Given the description of an element on the screen output the (x, y) to click on. 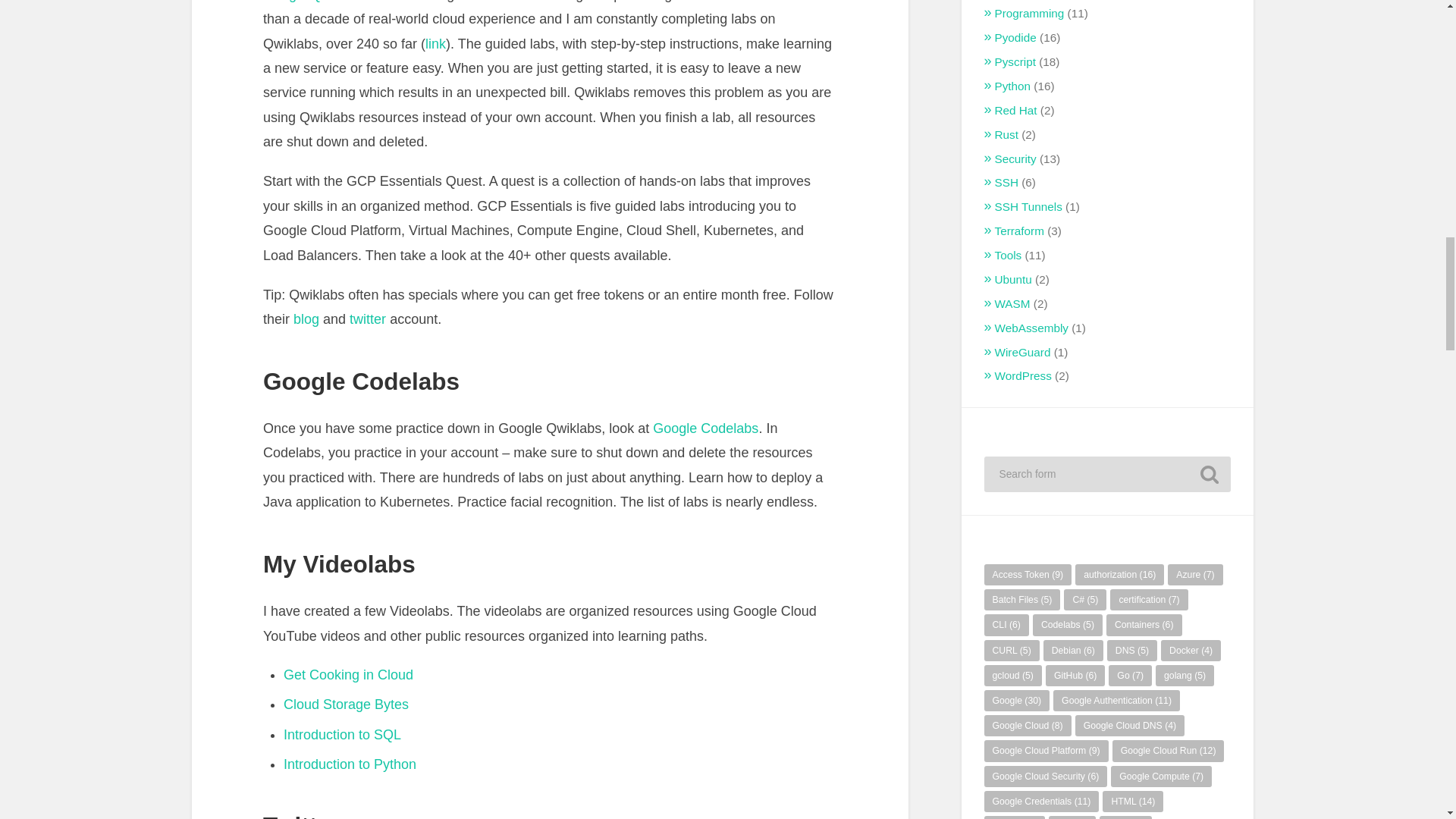
Search (1209, 474)
Search (1209, 474)
